Given the description of an element on the screen output the (x, y) to click on. 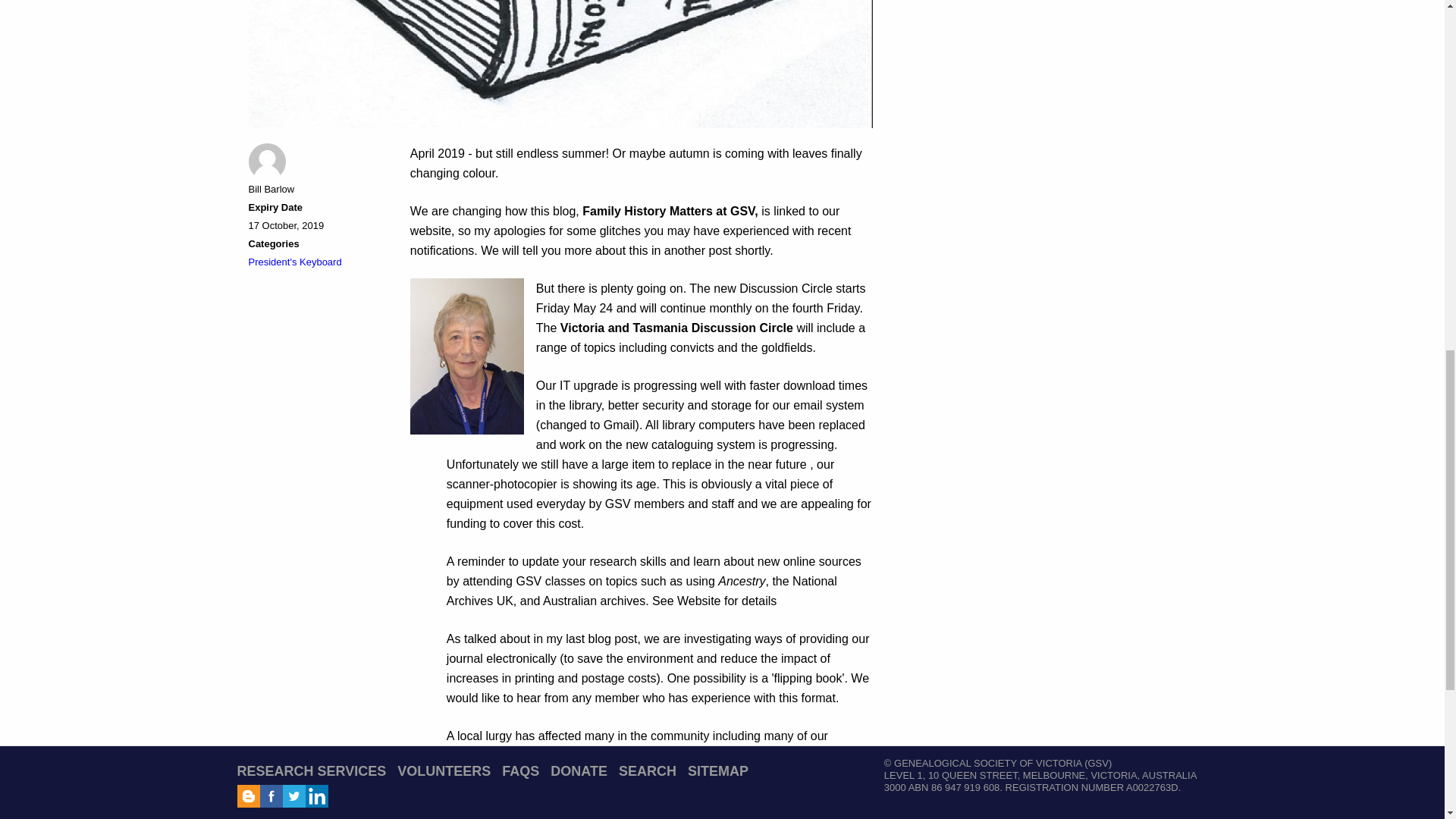
President's Keyboard (295, 261)
author (266, 161)
